Given the description of an element on the screen output the (x, y) to click on. 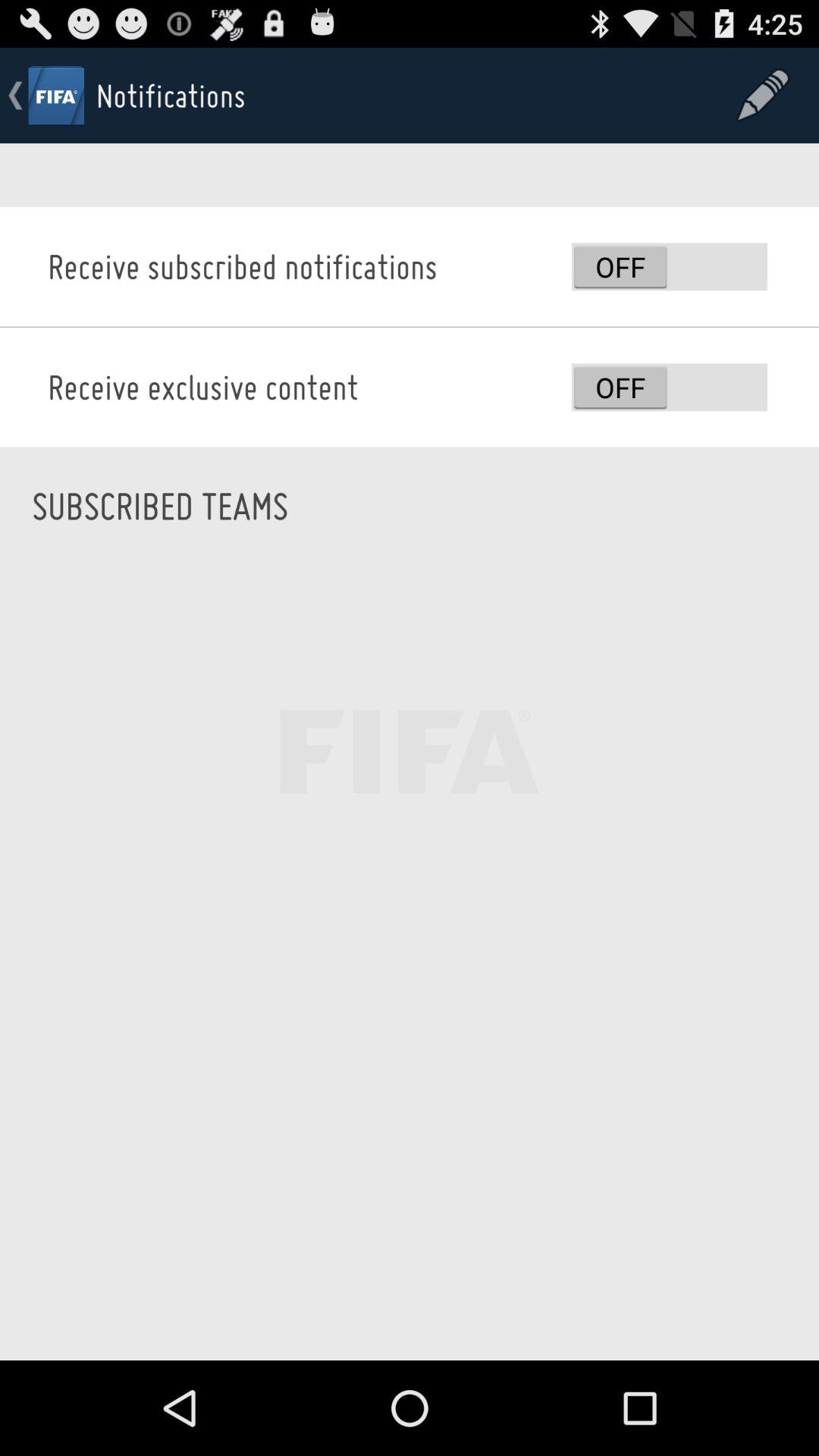
open the icon below the subscribed teams (409, 962)
